Given the description of an element on the screen output the (x, y) to click on. 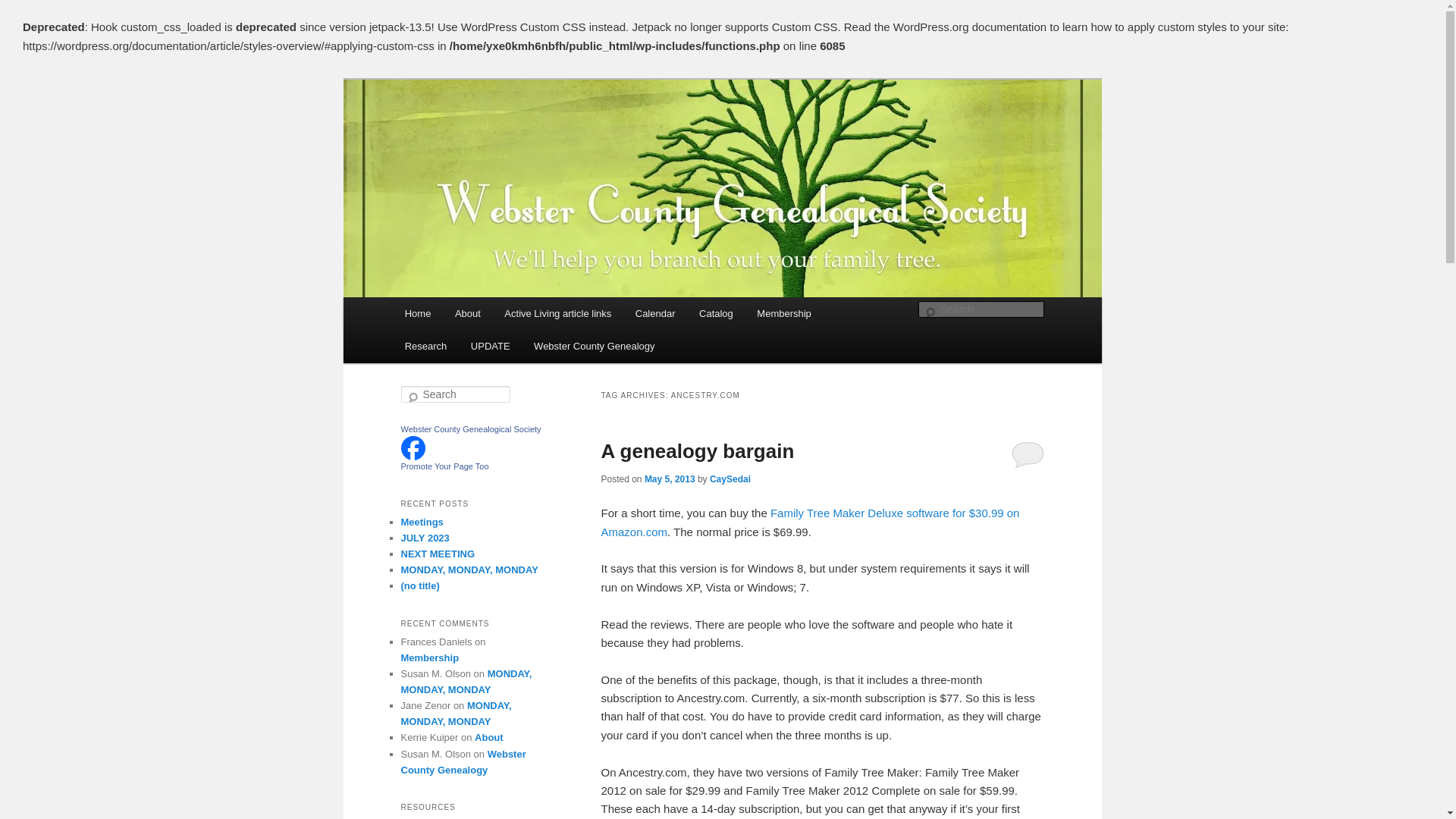
Webster County Genealogy (462, 761)
Calendar (655, 313)
Membership (784, 313)
Search (21, 11)
Promote Your Page Too (443, 465)
About (488, 737)
Family Tree Maker Deluxe (809, 521)
View all posts by CaySedai (730, 479)
May 5, 2013 (670, 479)
Webster County Genealogical Society (470, 429)
MONDAY, MONDAY, MONDAY (455, 713)
2:19 pm (670, 479)
MONDAY, MONDAY, MONDAY (468, 569)
Webster County Genealogical Society (470, 429)
NEXT MEETING (437, 553)
